Given the description of an element on the screen output the (x, y) to click on. 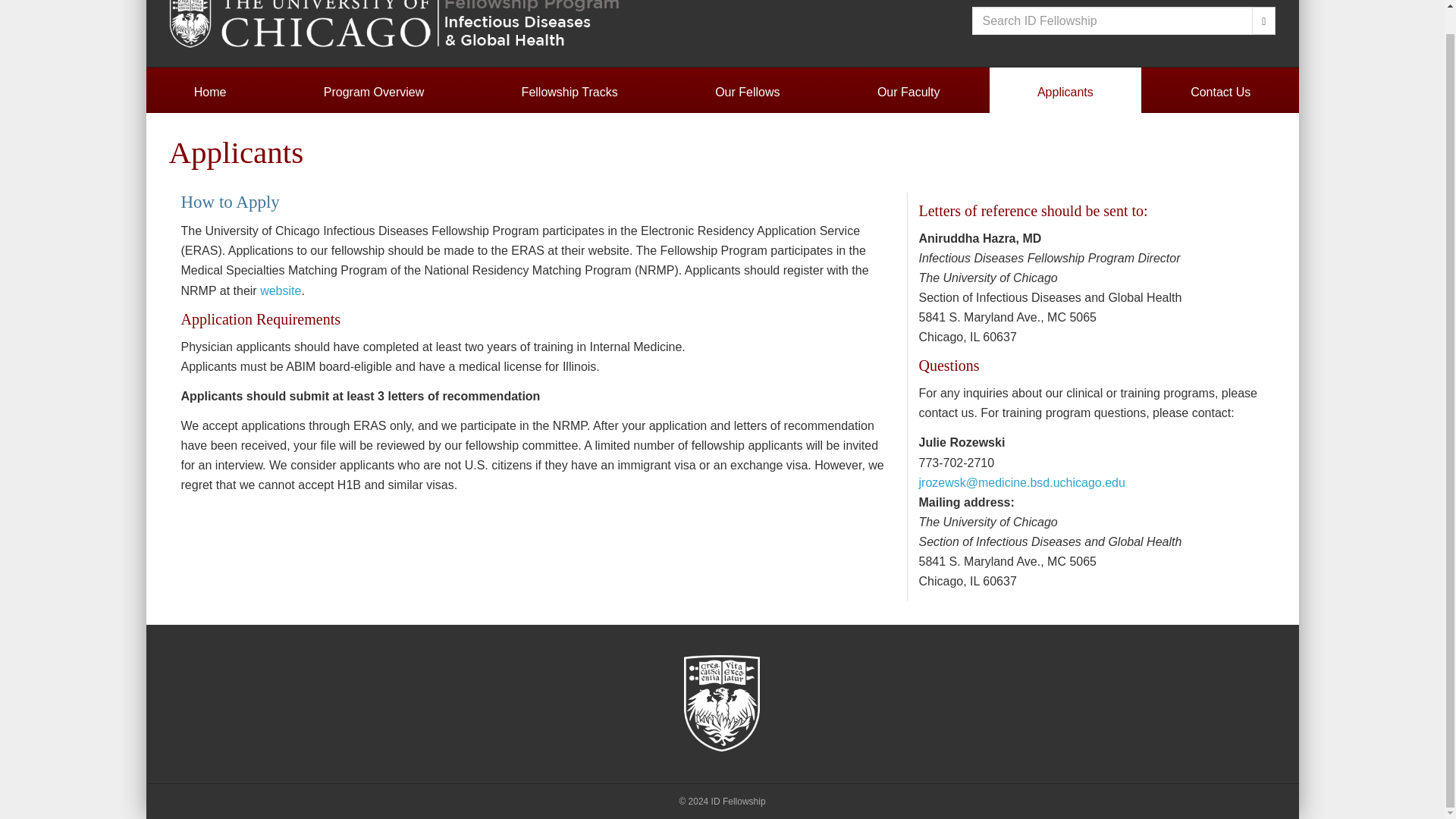
Contact Us (1220, 92)
Our Fellows (747, 92)
website (280, 290)
Fellowship Tracks (569, 92)
Home (209, 92)
Our Faculty (908, 92)
Program Overview (373, 92)
Applicants (1065, 92)
